Given the description of an element on the screen output the (x, y) to click on. 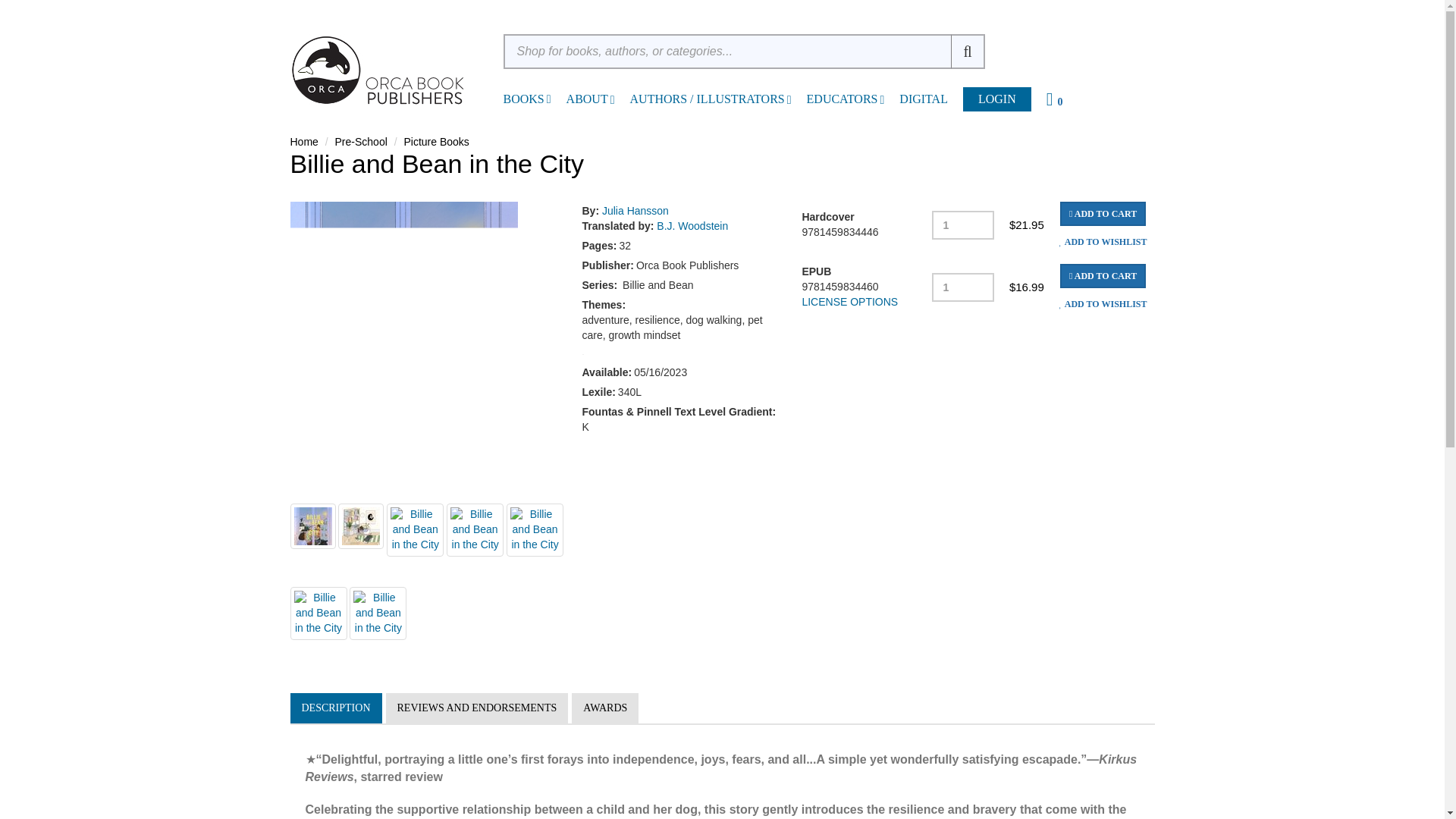
1 (962, 224)
Billie and Bean in the City (311, 525)
Billie and Bean in the City (360, 525)
Billie and Bean in the City (317, 613)
Billie and Bean in the City (534, 529)
Billie and Bean in the City (474, 529)
BOOKS (523, 98)
Billie and Bean in the City (377, 613)
1 (962, 287)
Billie and Bean in the City (415, 529)
